Given the description of an element on the screen output the (x, y) to click on. 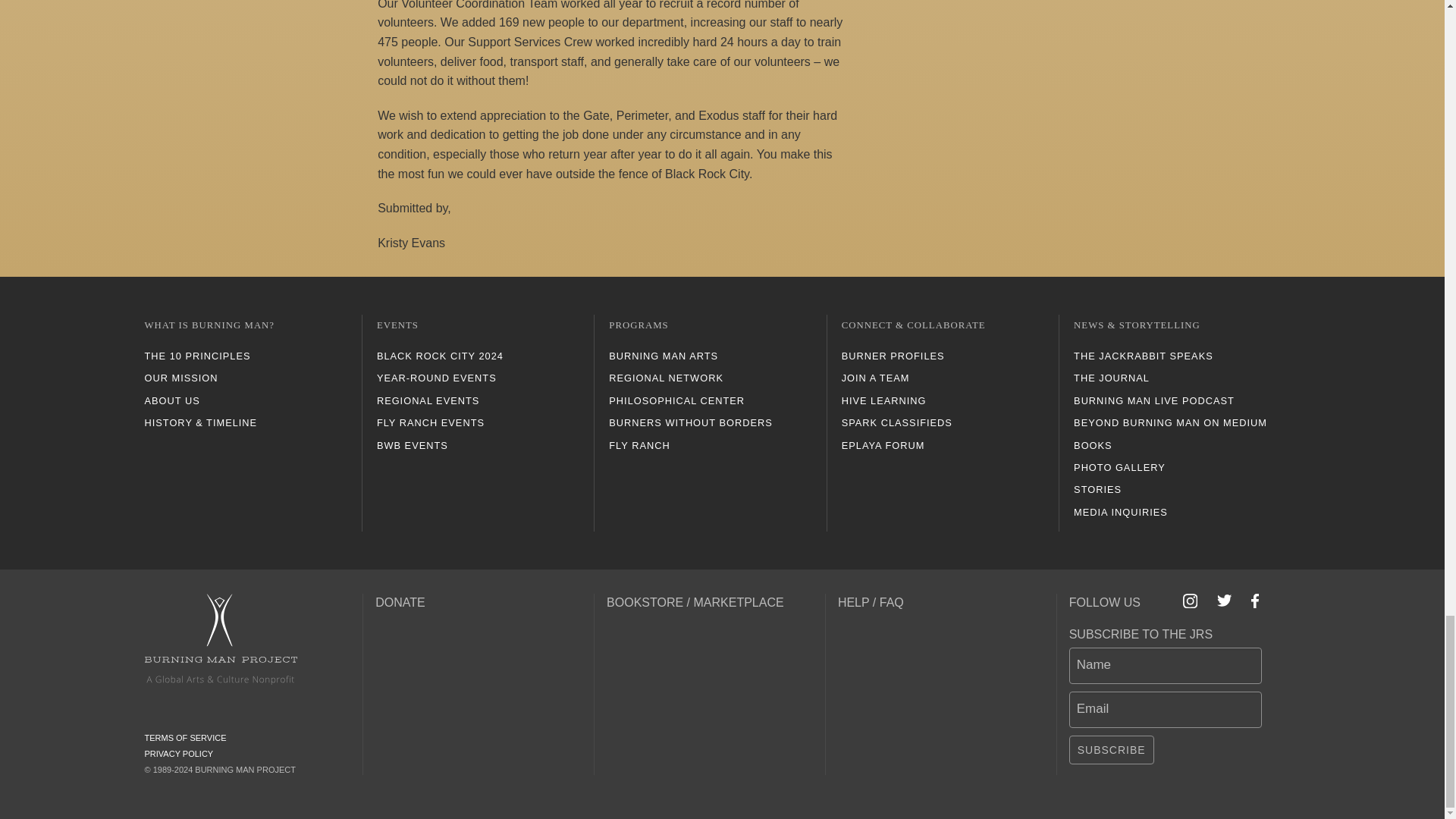
LINK TO BURNING MAN INSTAGRAM (1190, 600)
LINK TO BURNING MAN TWITTER (1224, 600)
